Given the description of an element on the screen output the (x, y) to click on. 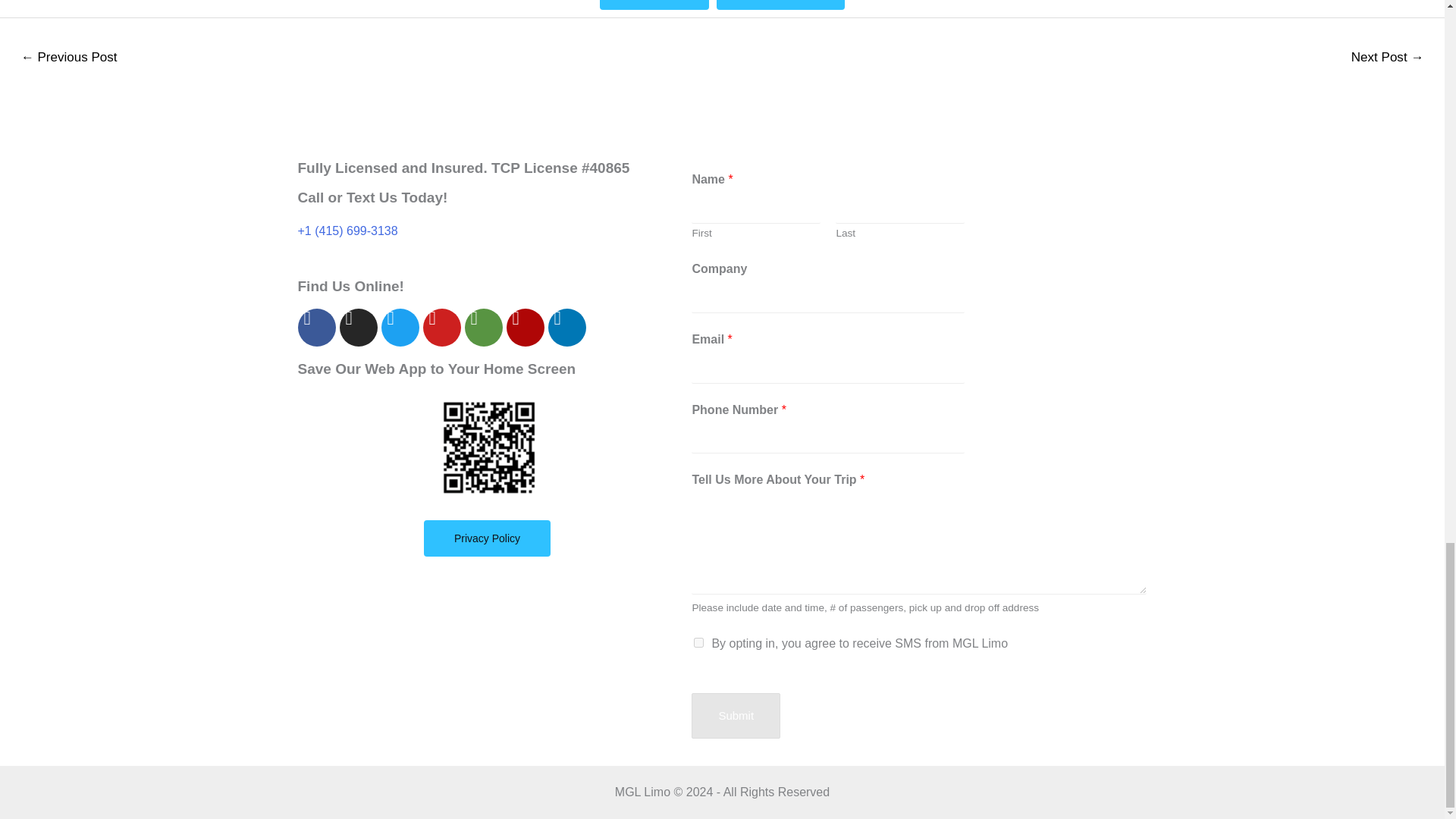
Book Now (654, 4)
Call or Text us (780, 4)
